Given the description of an element on the screen output the (x, y) to click on. 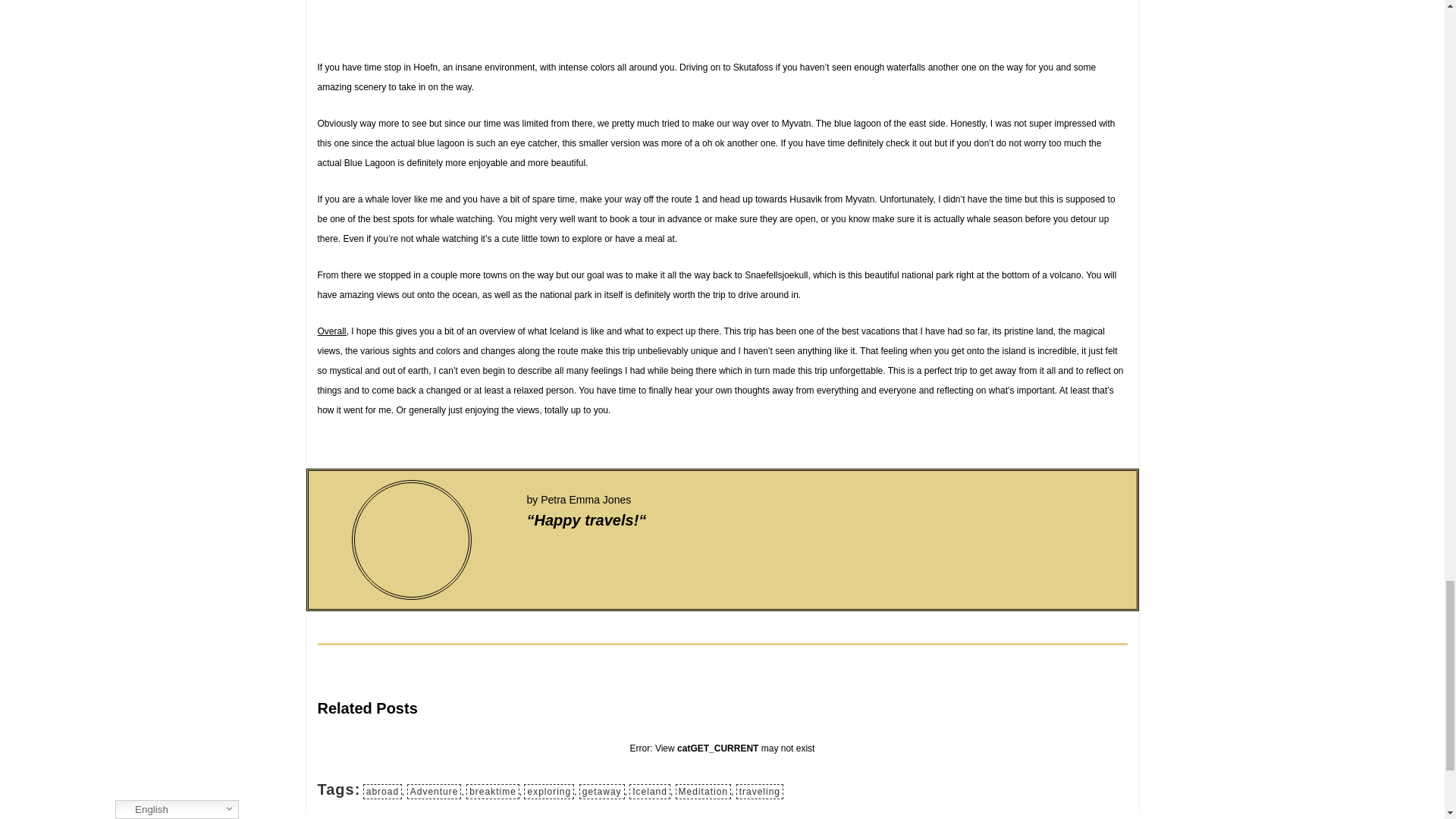
Adventure (434, 791)
exploring (548, 791)
breaktime (492, 791)
abroad (381, 791)
